Given the description of an element on the screen output the (x, y) to click on. 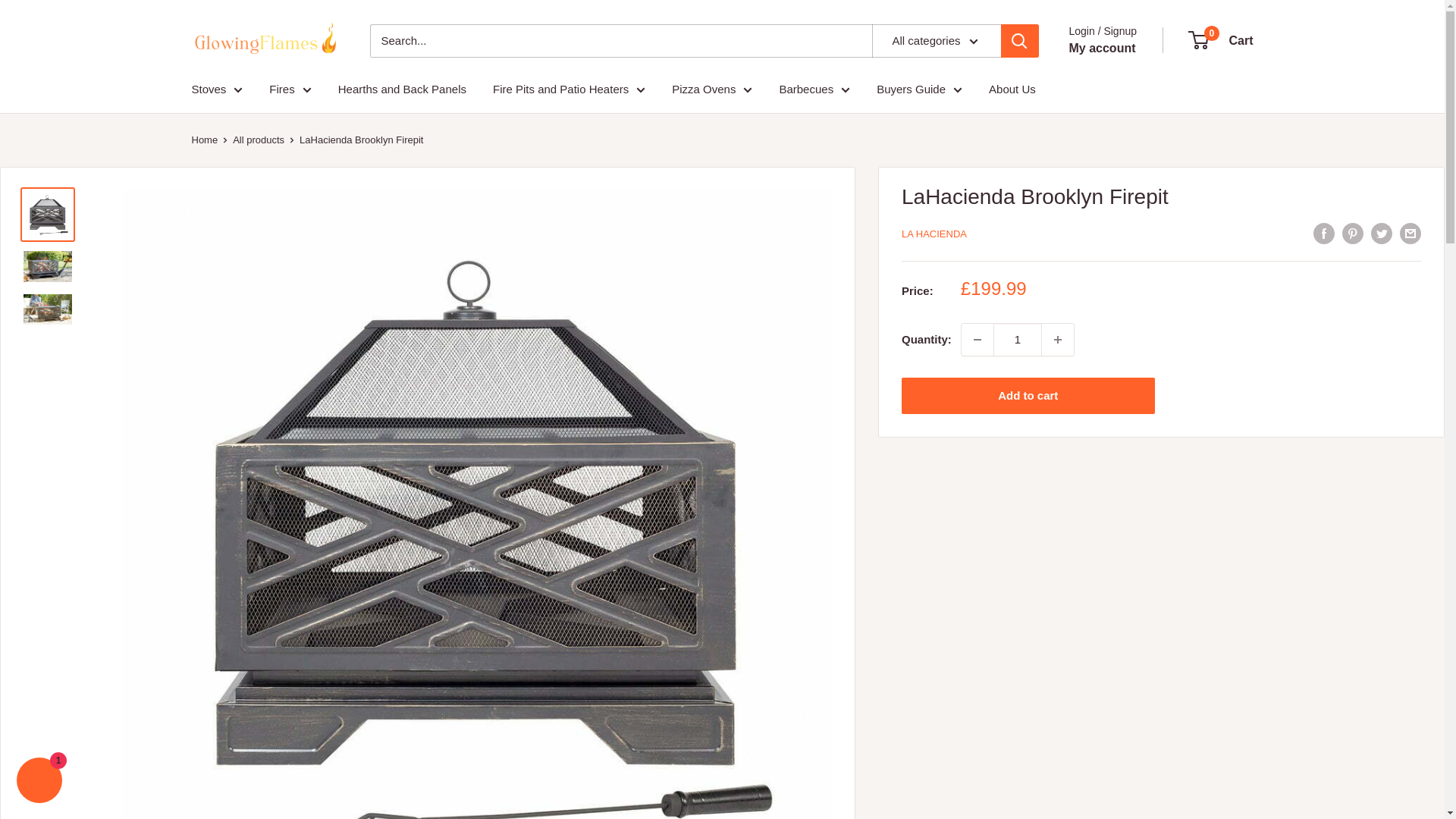
1 (1017, 339)
Shopify online store chat (38, 781)
Increase quantity by 1 (1058, 339)
Decrease quantity by 1 (976, 339)
